Given the description of an element on the screen output the (x, y) to click on. 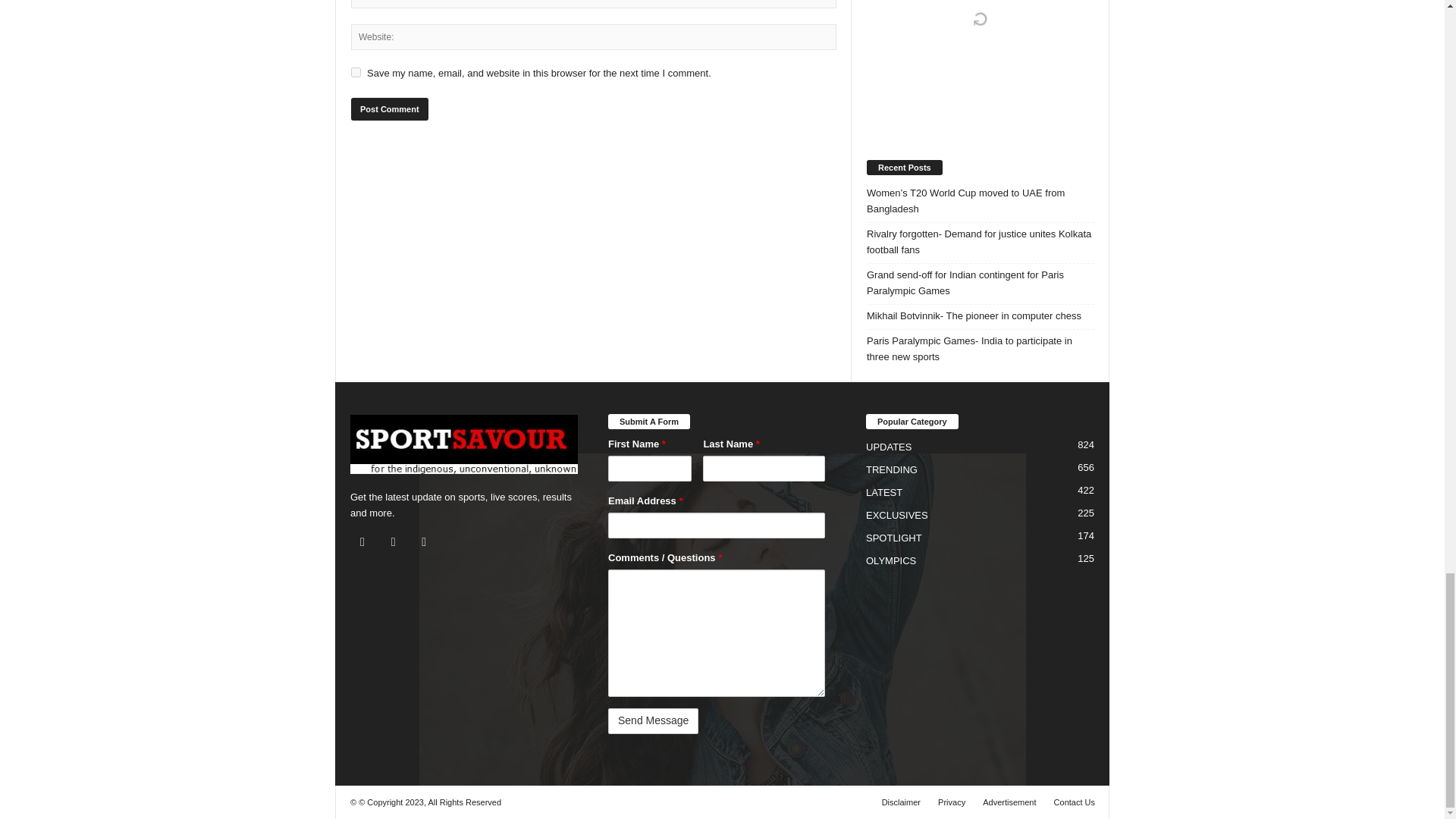
Send Message (653, 720)
Post Comment (389, 108)
yes (355, 71)
